Given the description of an element on the screen output the (x, y) to click on. 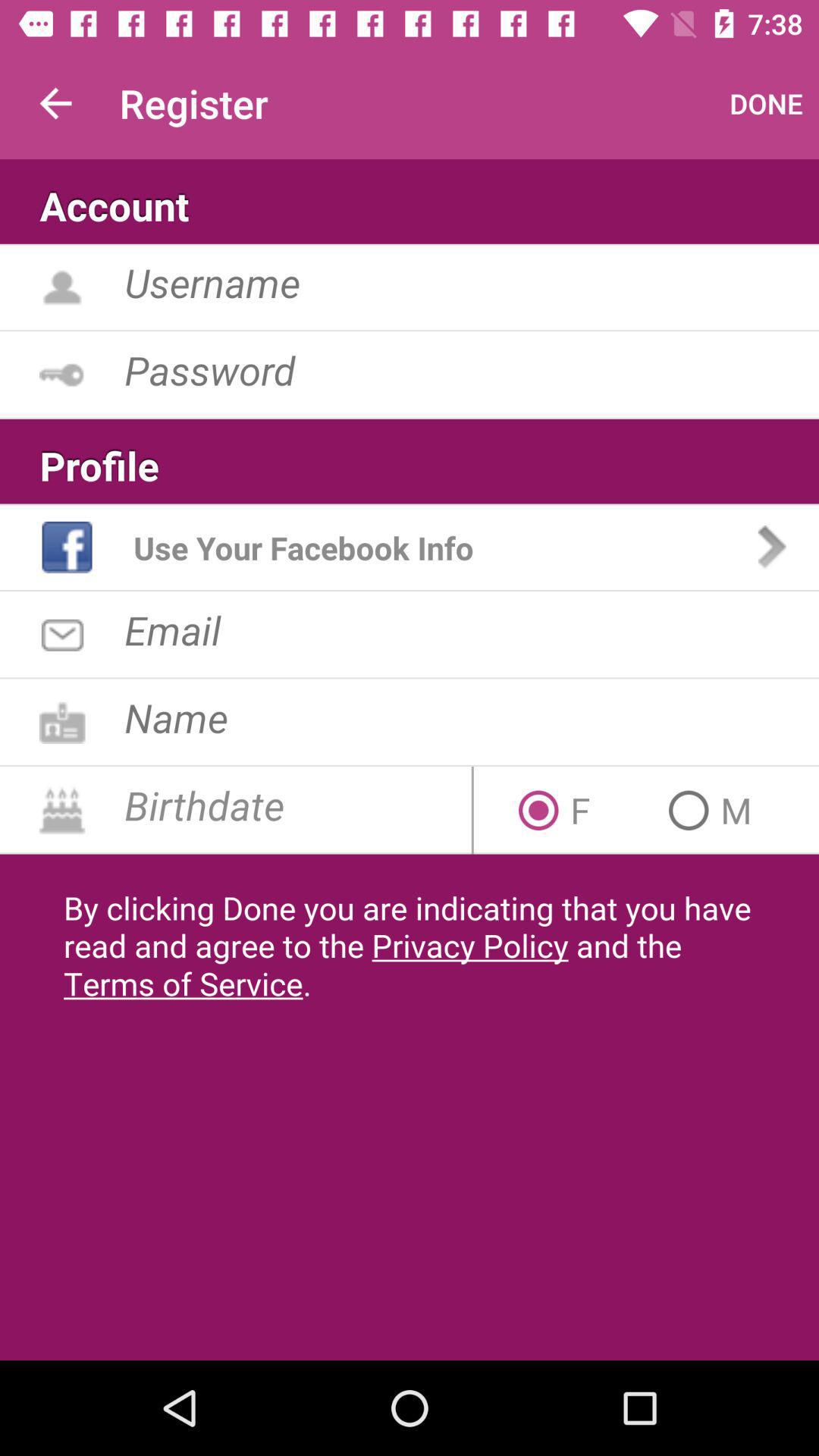
enter email (471, 629)
